Given the description of an element on the screen output the (x, y) to click on. 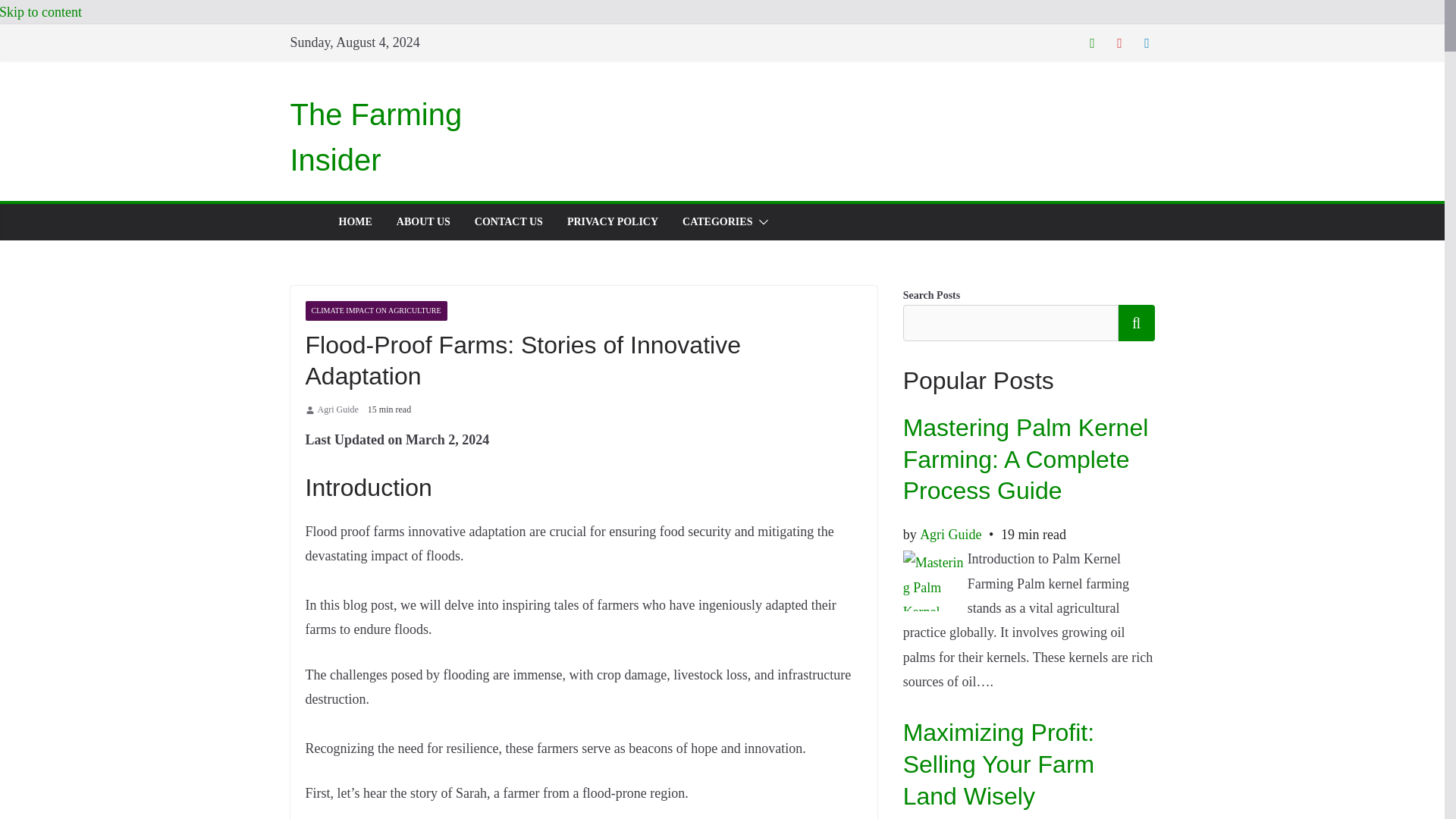
CATEGORIES (717, 221)
The Farming Insider (375, 136)
HOME (354, 221)
Agri Guide (337, 410)
Twitter (1091, 43)
LinkedIn (1146, 43)
Agri Guide (337, 410)
CONTACT US (508, 221)
PRIVACY POLICY (612, 221)
The Farming Insider (375, 136)
Pinterest (1119, 43)
ABOUT US (422, 221)
CLIMATE IMPACT ON AGRICULTURE (375, 311)
Skip to content (40, 11)
